Given the description of an element on the screen output the (x, y) to click on. 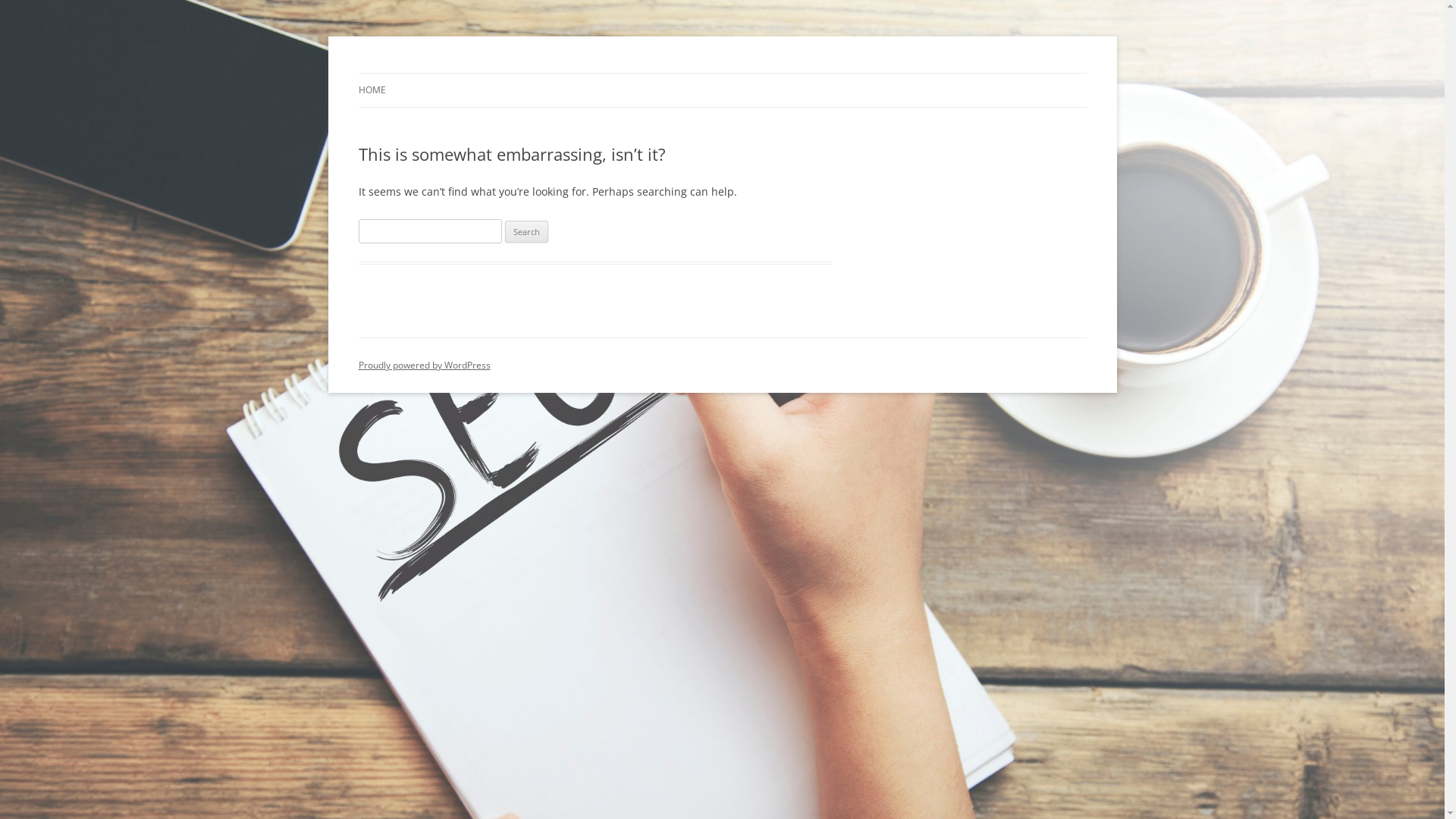
Search Element type: text (526, 231)
Your Guide to SEO Content Writing | Karina Reminski Element type: text (618, 72)
HOME Element type: text (371, 89)
Proudly powered by WordPress Element type: text (423, 364)
Skip to content Element type: text (721, 72)
